Given the description of an element on the screen output the (x, y) to click on. 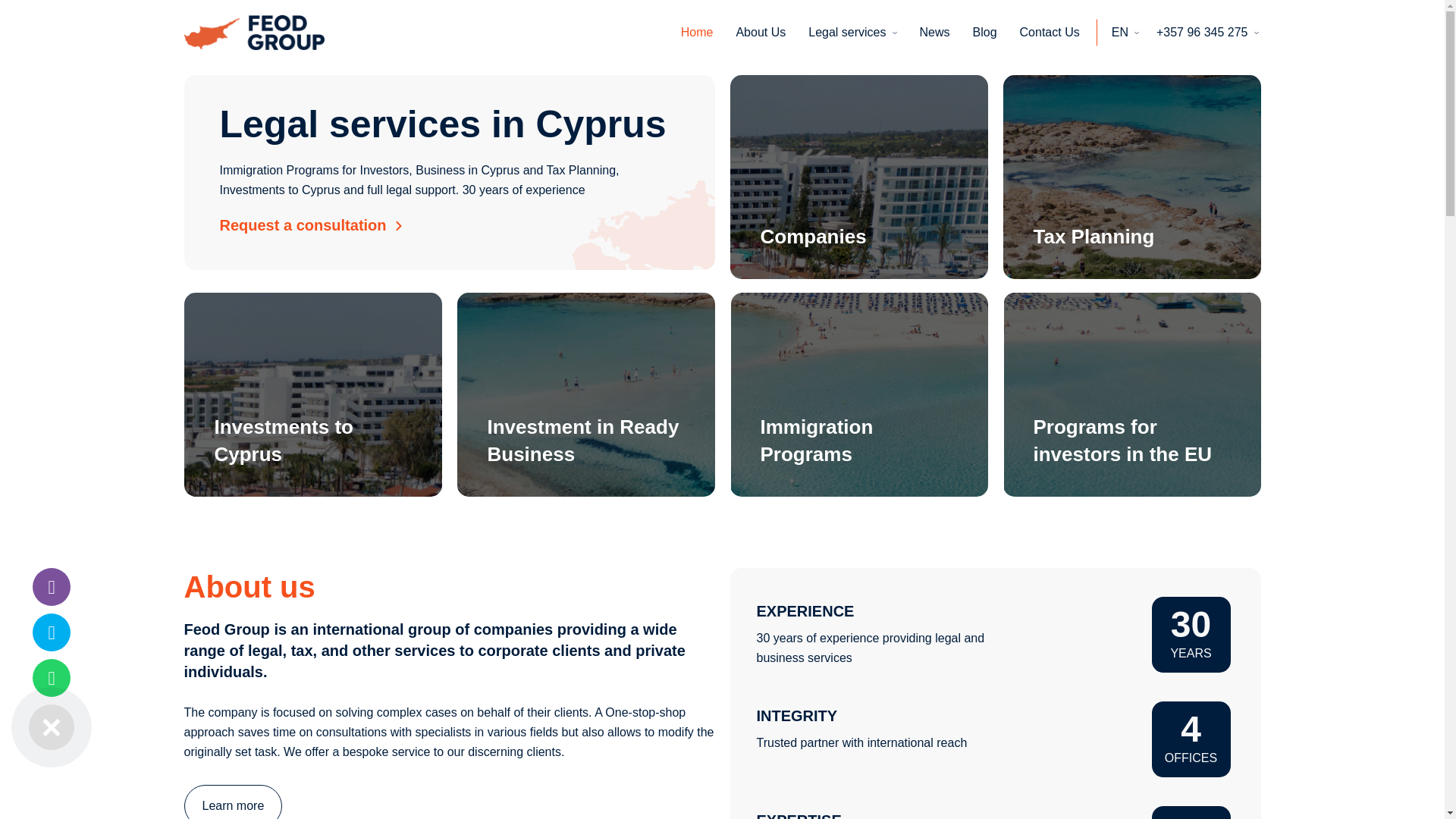
Investments to Cyprus (312, 394)
News (935, 32)
Tax Planning (1131, 177)
Contact Us (1050, 32)
Investment in Ready Business (585, 394)
Legal services (852, 32)
Home (697, 32)
About Us (760, 32)
Request a consultation (310, 225)
Programs for investors in the EU (1131, 394)
Learn more (232, 801)
Immigration Programs (858, 394)
Blog (984, 32)
Companies (858, 177)
EN (1125, 32)
